Given the description of an element on the screen output the (x, y) to click on. 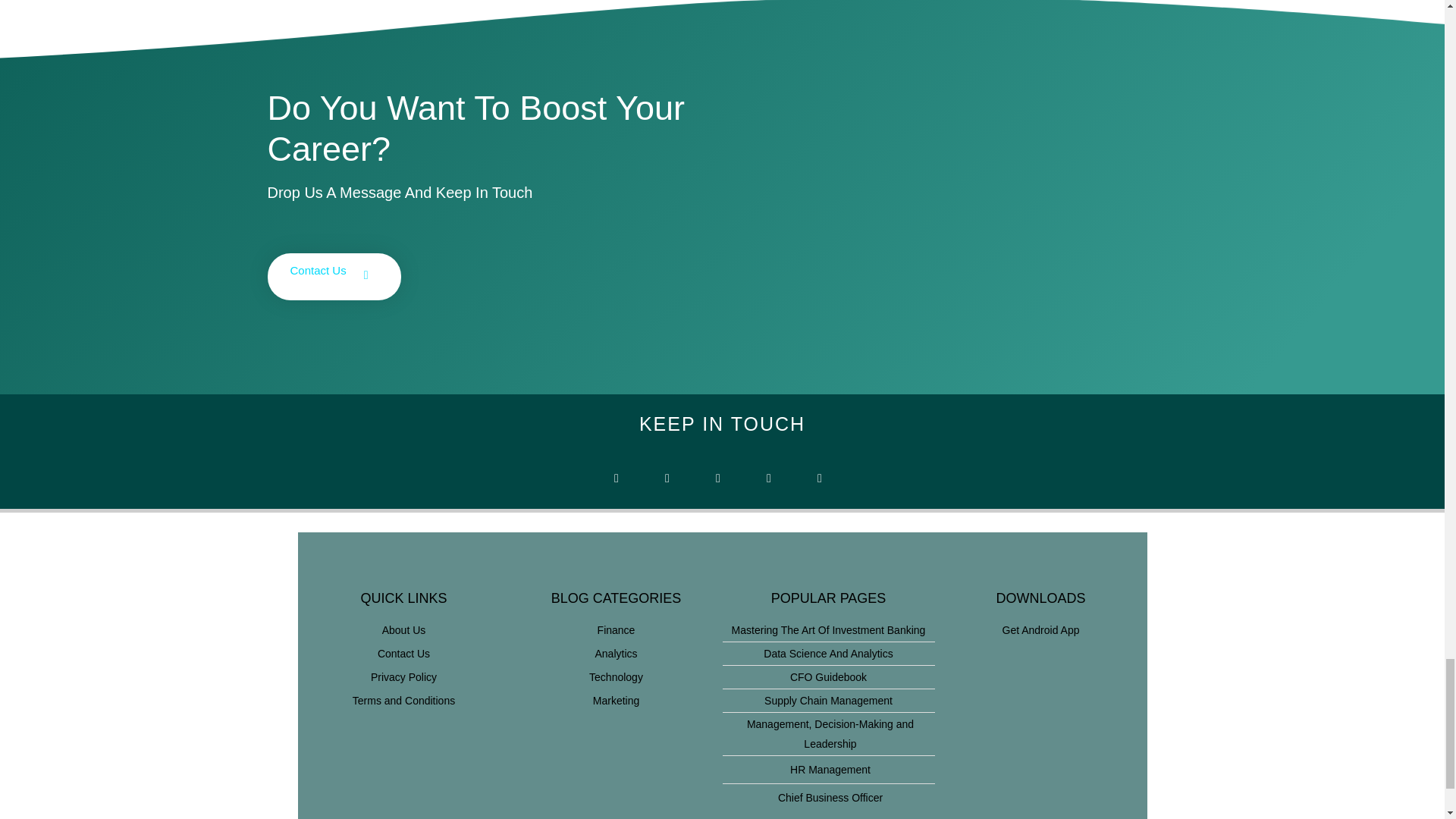
Privacy Policy (403, 677)
Contact Us (403, 653)
Contact Us (333, 276)
About Us (403, 629)
